Given the description of an element on the screen output the (x, y) to click on. 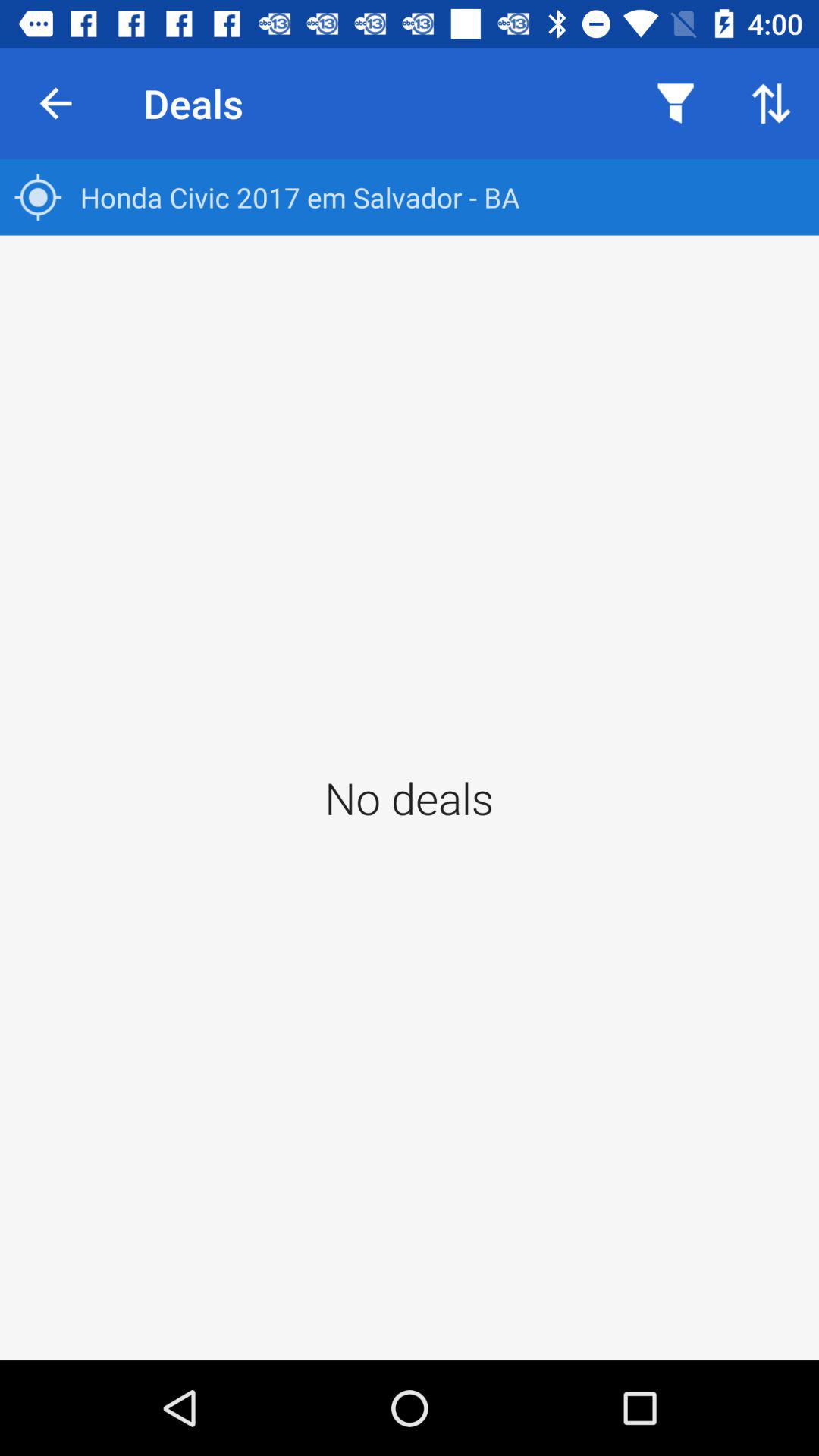
click the icon to the right of deals icon (675, 103)
